Given the description of an element on the screen output the (x, y) to click on. 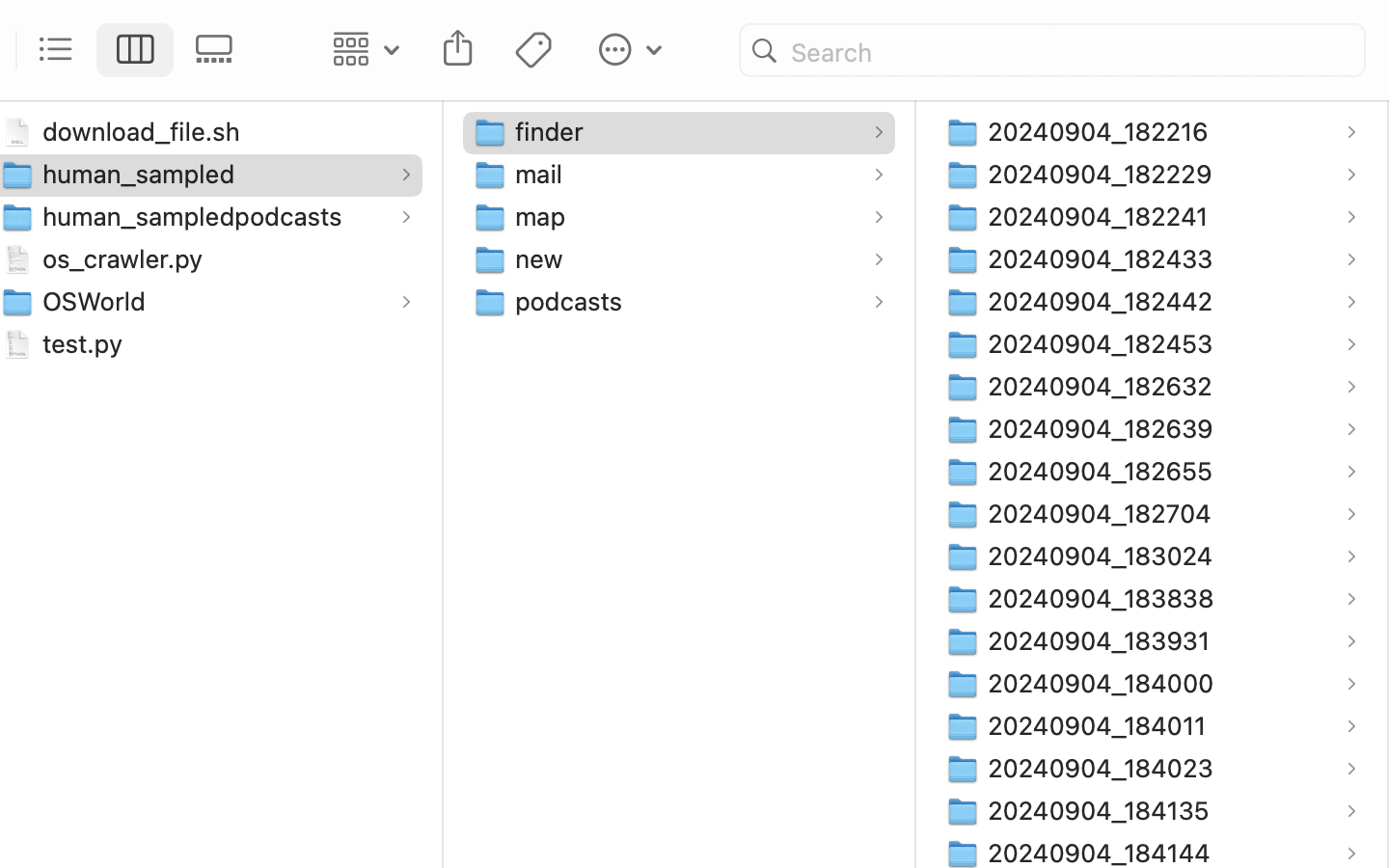
test.py Element type: AXTextField (86, 342)
human_sampledpodcasts Element type: AXTextField (196, 215)
os_crawler.py Element type: AXTextField (127, 258)
20240904_182655 Element type: AXTextField (1104, 470)
OSWorld Element type: AXTextField (98, 300)
